Given the description of an element on the screen output the (x, y) to click on. 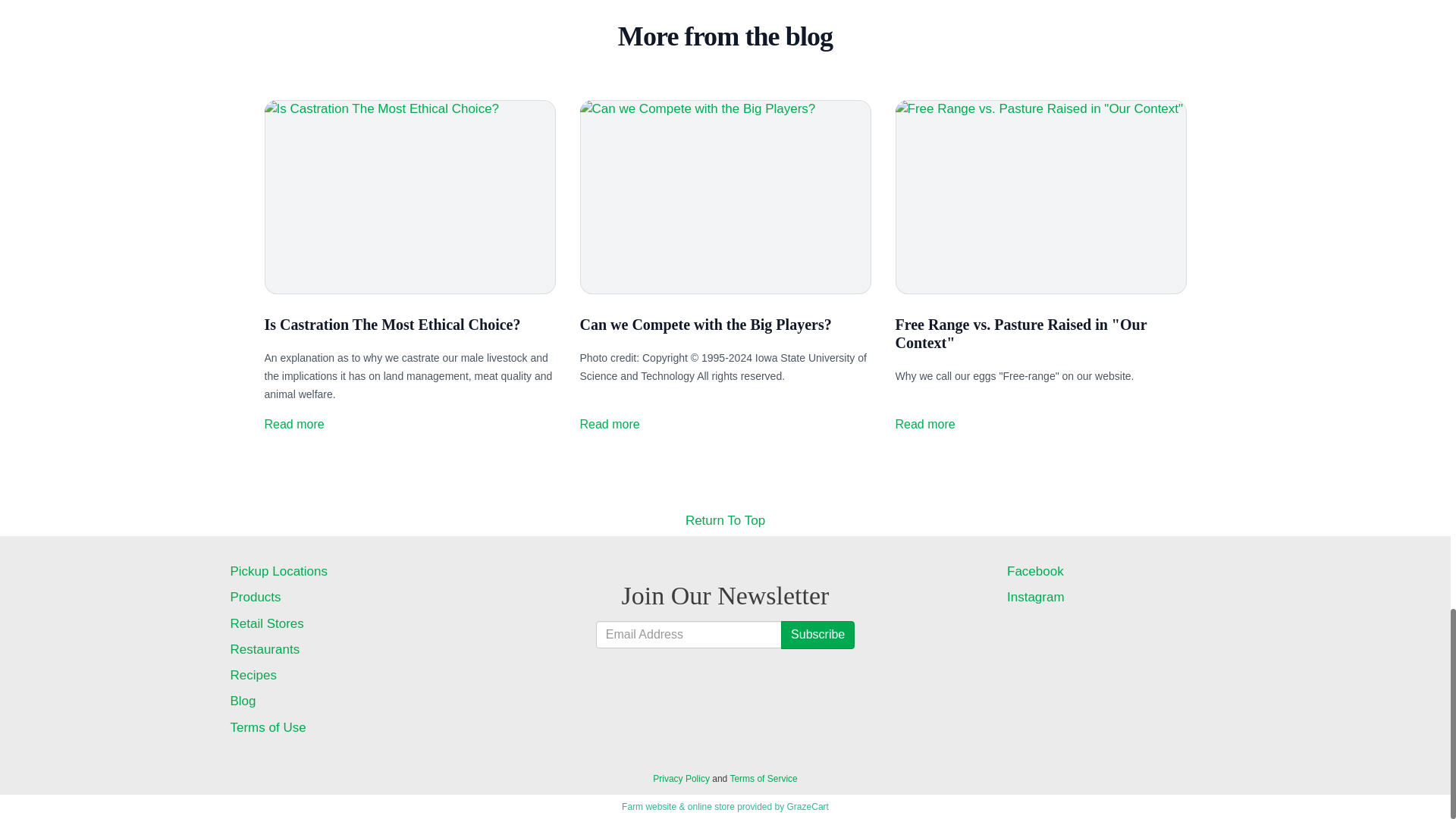
Retail Stores (337, 623)
Free Range vs. Pasture Raised in "Our Context" (1021, 333)
Is Castration The Most Ethical Choice? (391, 324)
Can we Compete with the Big Players? (705, 324)
Products (337, 597)
Read more (609, 424)
Restaurants (337, 649)
Return To Top (724, 521)
Read more (293, 424)
Read more (925, 424)
